Given the description of an element on the screen output the (x, y) to click on. 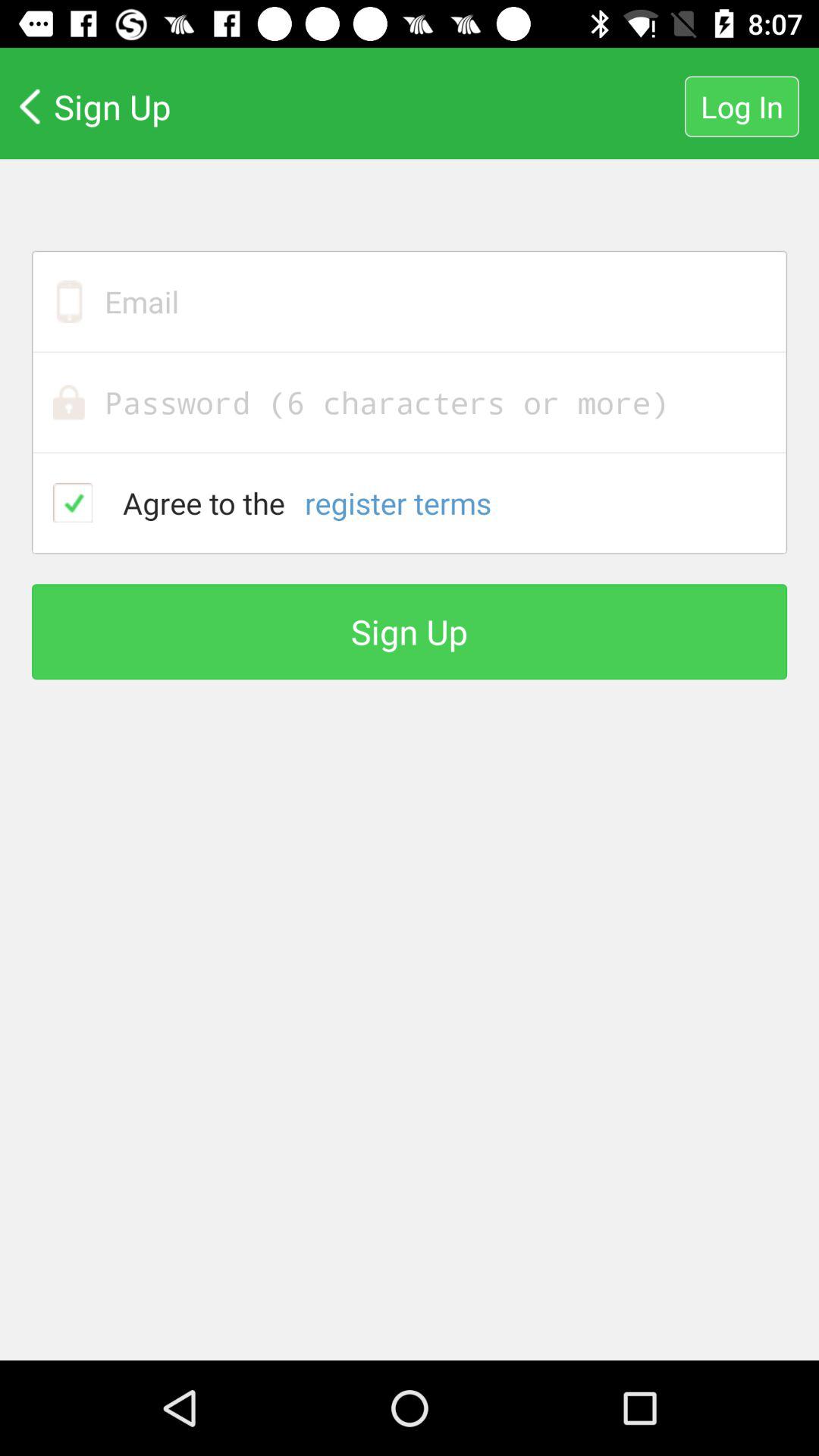
type your email (409, 301)
